Given the description of an element on the screen output the (x, y) to click on. 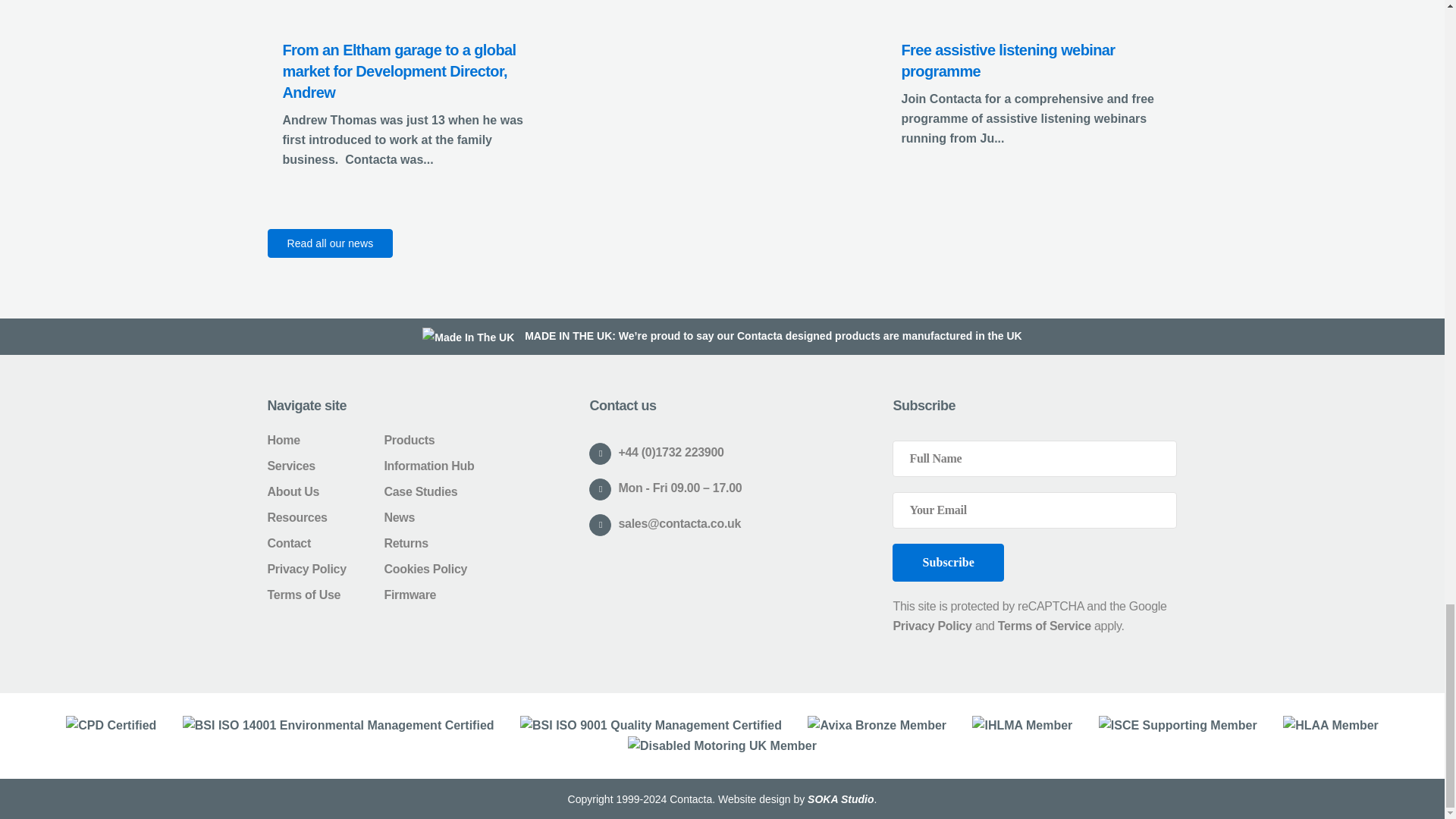
Subscribe (947, 562)
